Given the description of an element on the screen output the (x, y) to click on. 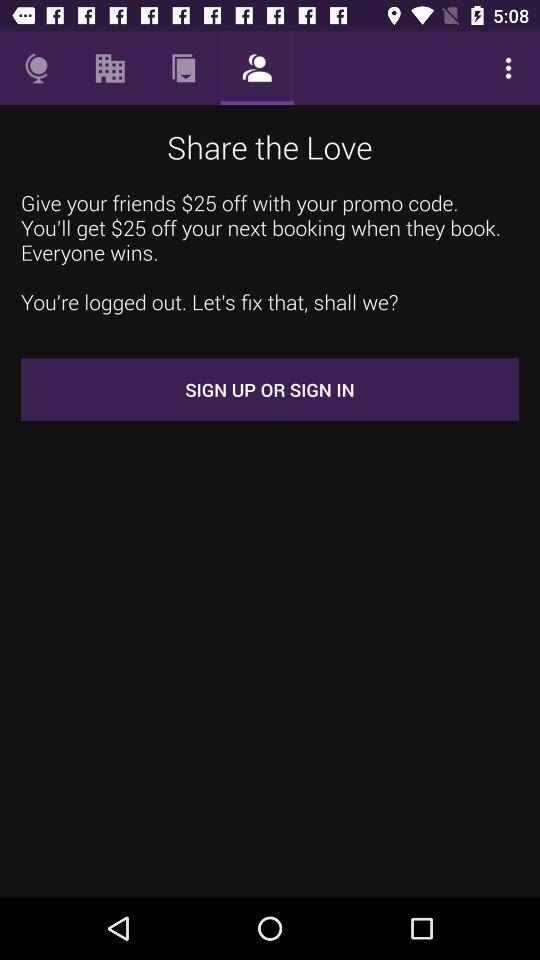
turn off icon below give your friends (270, 389)
